Given the description of an element on the screen output the (x, y) to click on. 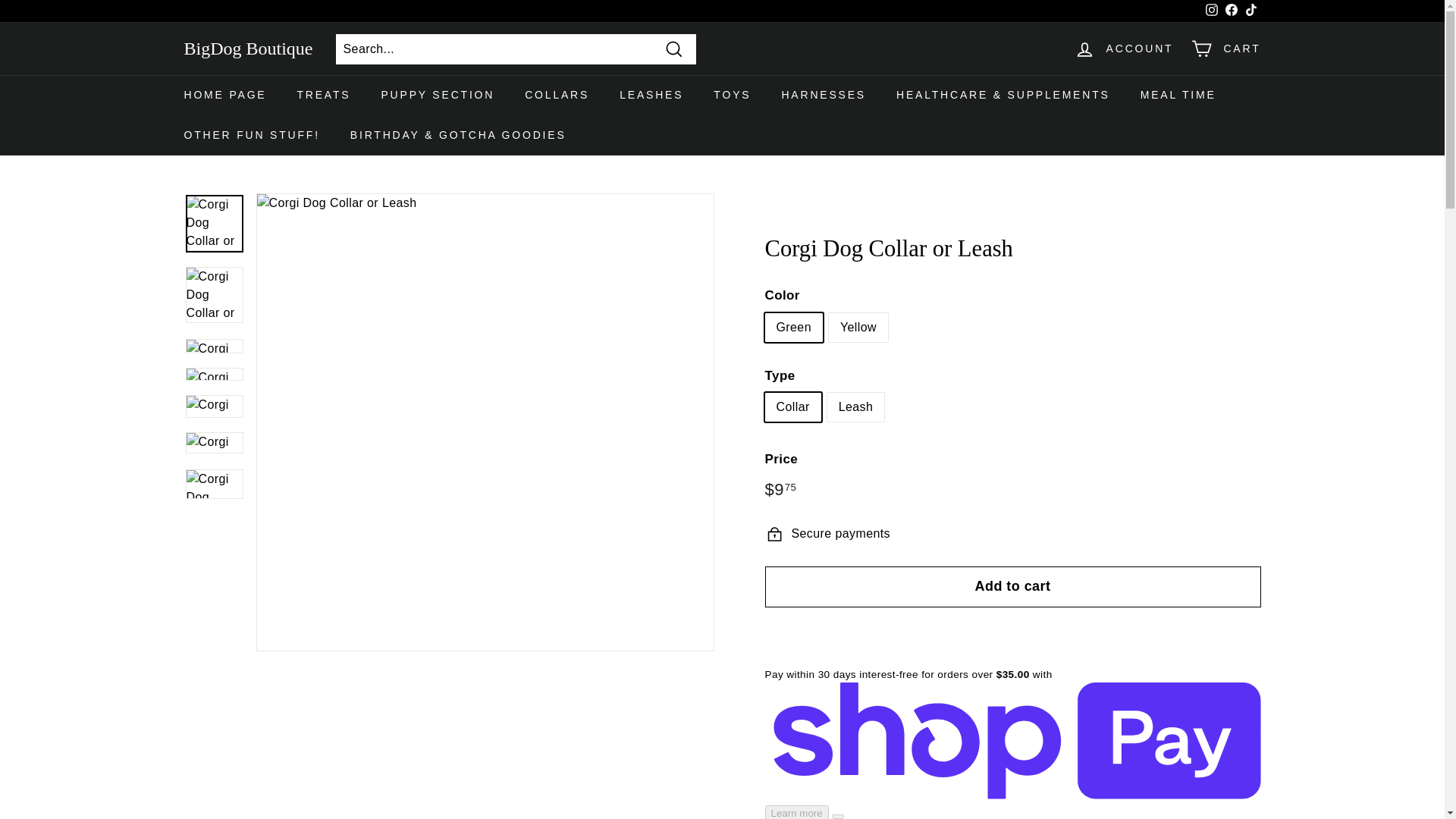
COLLARS (556, 95)
BigDog Boutique (248, 48)
PUPPY SECTION (437, 95)
ACCOUNT (1123, 48)
TREATS (323, 95)
